Given the description of an element on the screen output the (x, y) to click on. 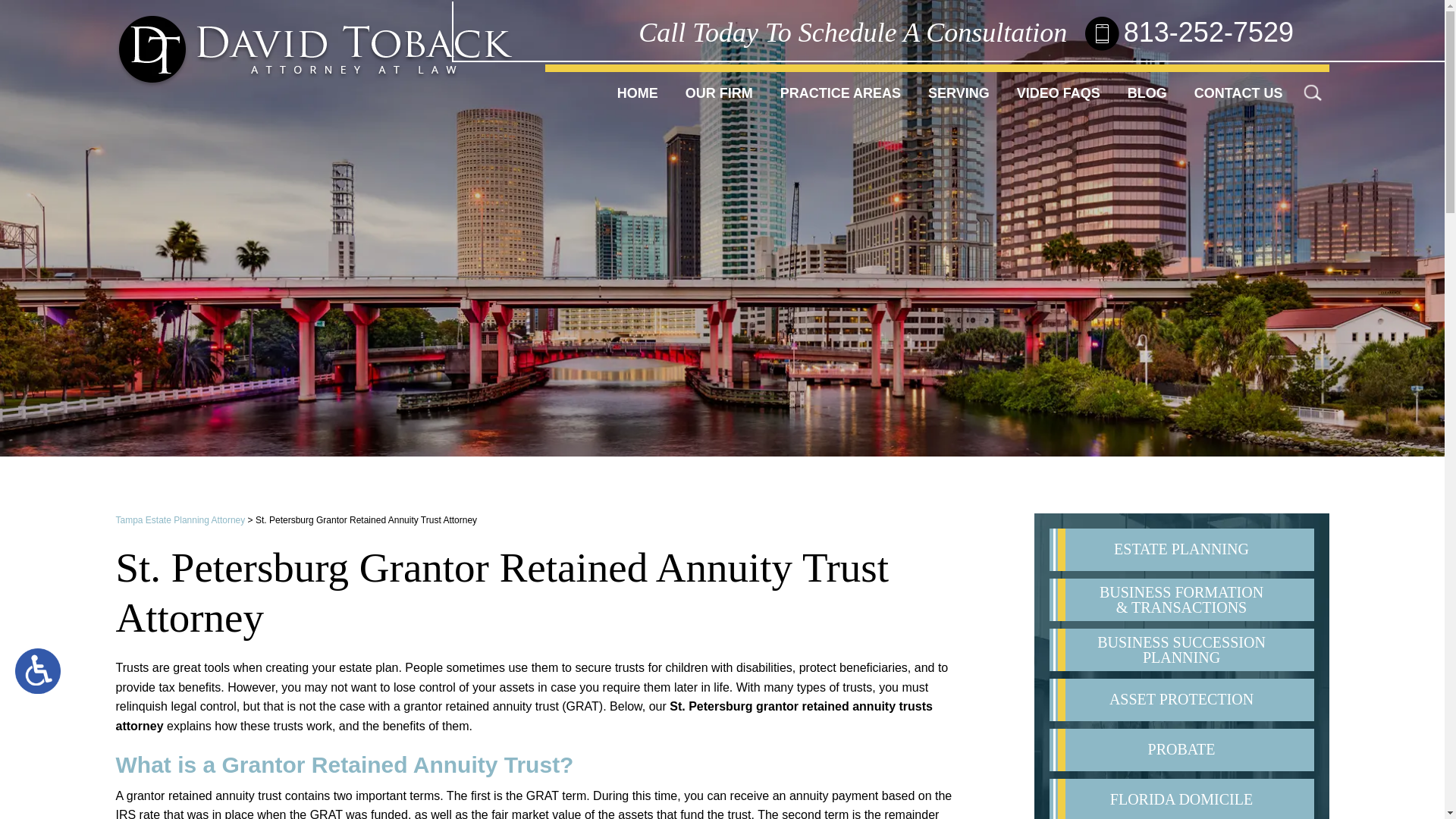
OUR FIRM (719, 92)
813-252-7529 (1209, 31)
HOME (637, 92)
Switch to ADA Accessible Theme (37, 670)
PRACTICE AREAS (840, 92)
